Given the description of an element on the screen output the (x, y) to click on. 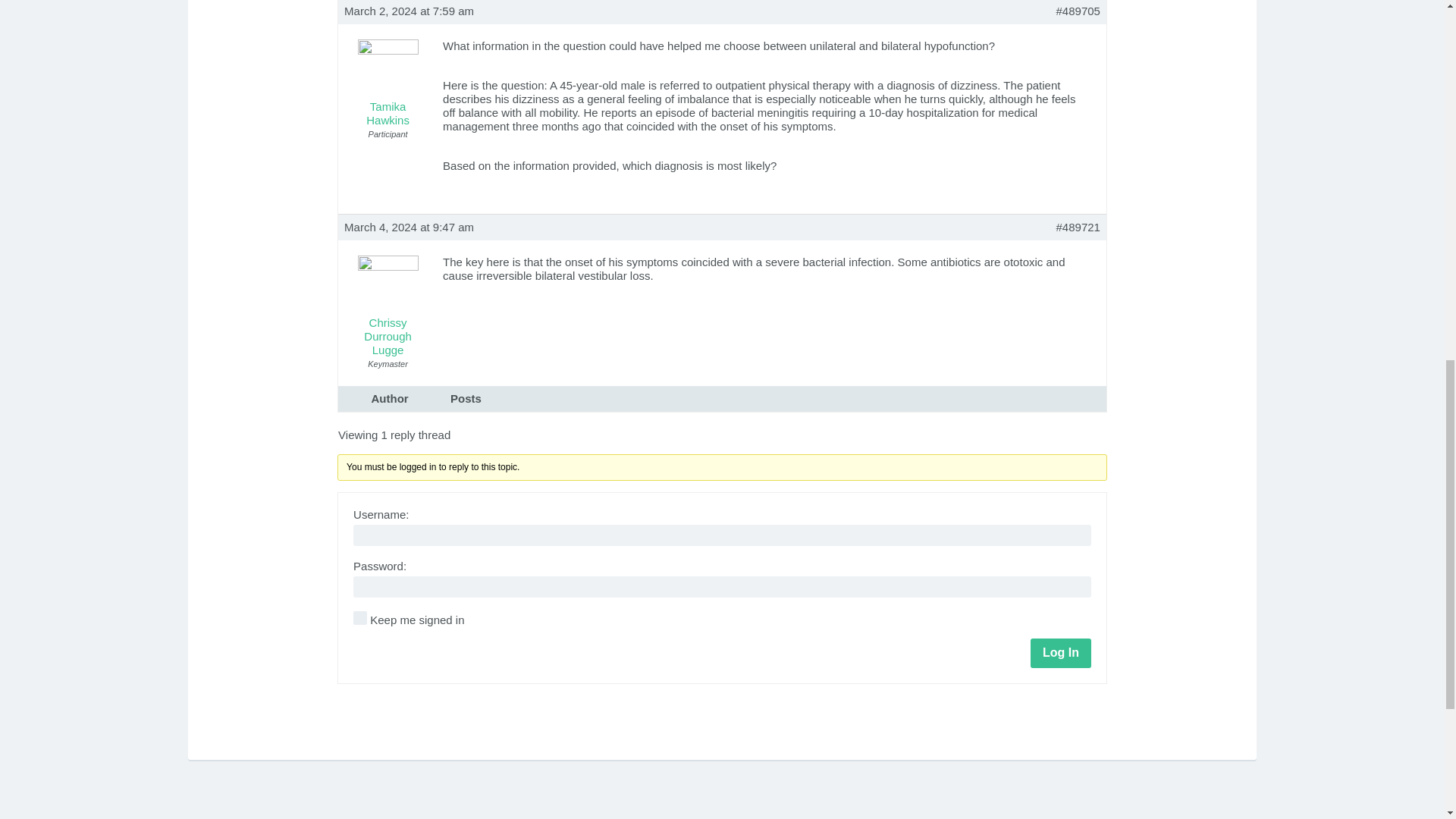
View Tamika Hawkins's profile (386, 85)
Log In (1060, 652)
View Chrissy Durrough Lugge's profile (386, 308)
forever (359, 617)
Chrissy Durrough Lugge (386, 308)
Tamika Hawkins (386, 85)
